Given the description of an element on the screen output the (x, y) to click on. 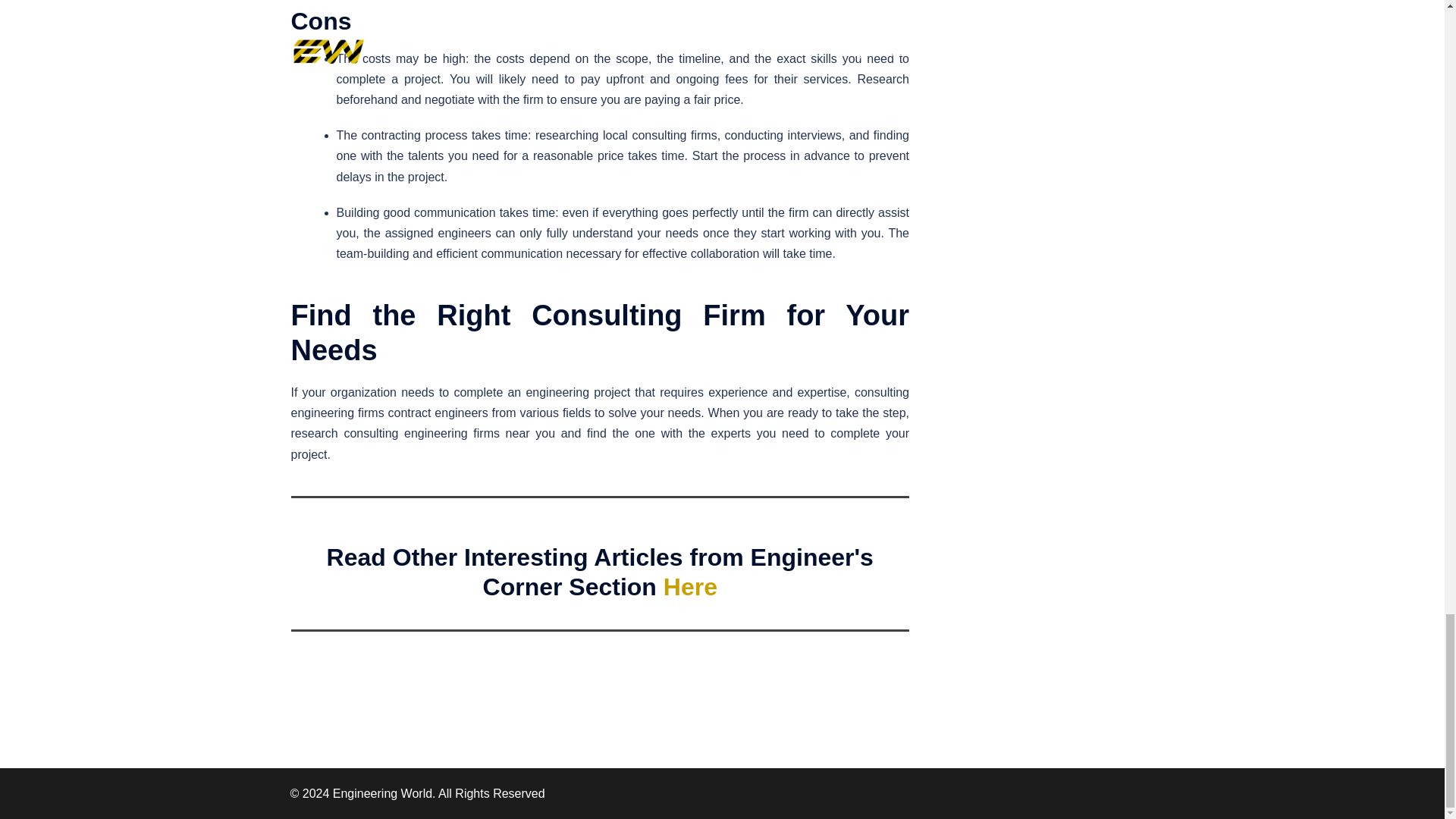
Here (690, 586)
